Given the description of an element on the screen output the (x, y) to click on. 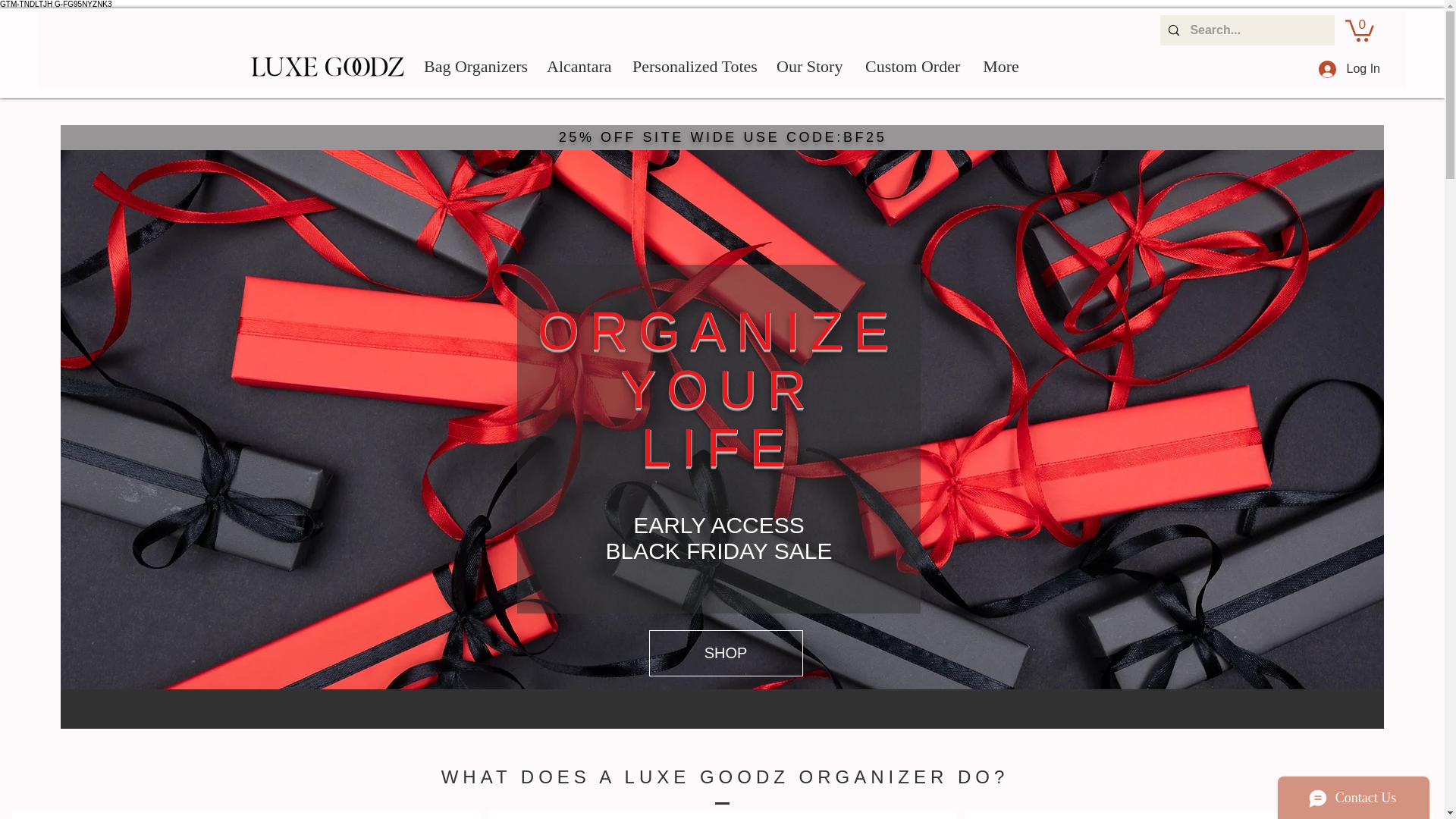
0 (1359, 29)
Log In (1348, 69)
Our Story (809, 66)
Custom Order (912, 66)
SHOP (726, 652)
Bag Organizers (473, 66)
Personalized Totes (693, 66)
0 (1359, 29)
Smile.io Rewards Program Launcher (68, 780)
